Given the description of an element on the screen output the (x, y) to click on. 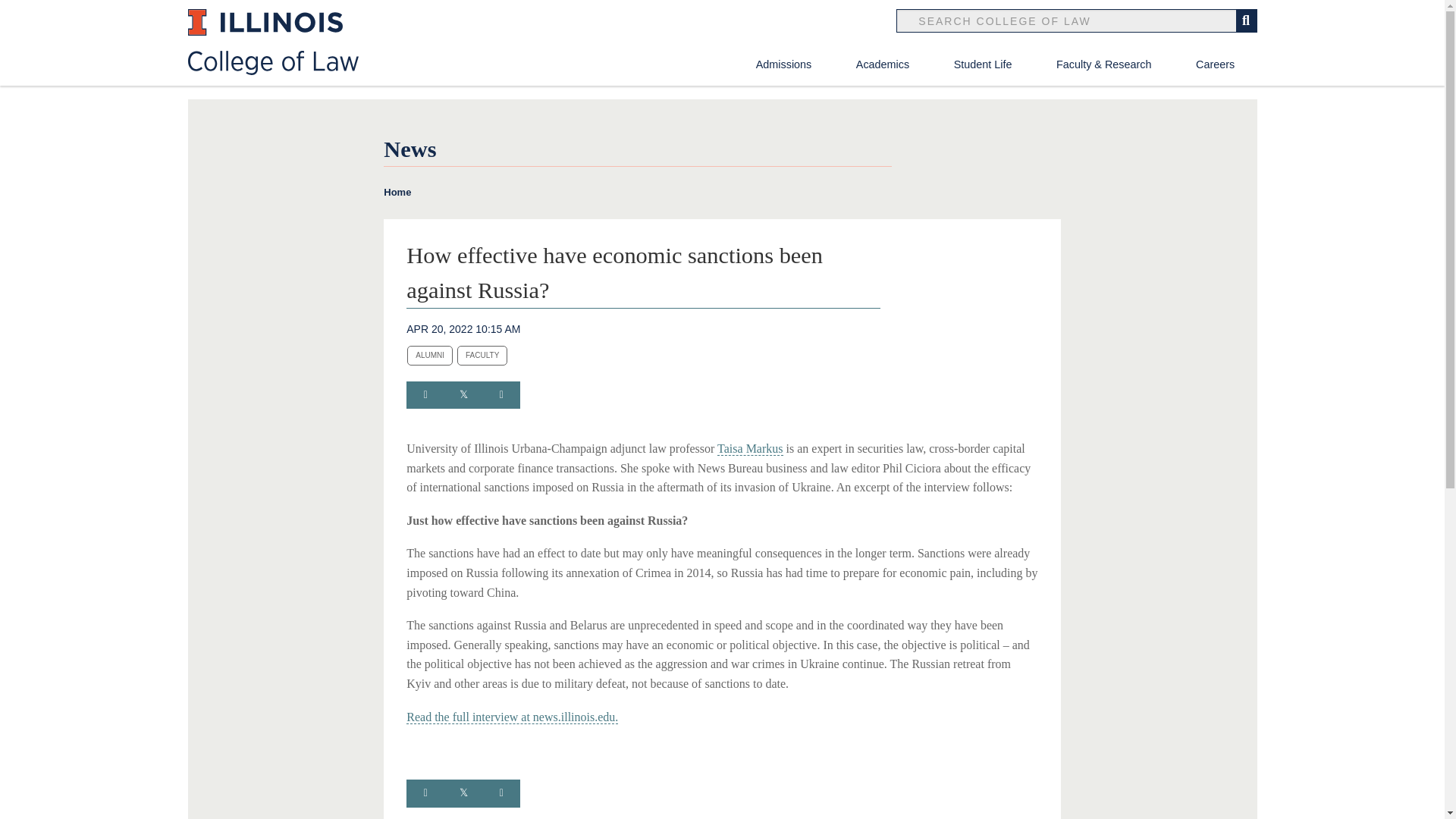
Admissions (783, 64)
Academics (882, 64)
Student Life (982, 64)
